Given the description of an element on the screen output the (x, y) to click on. 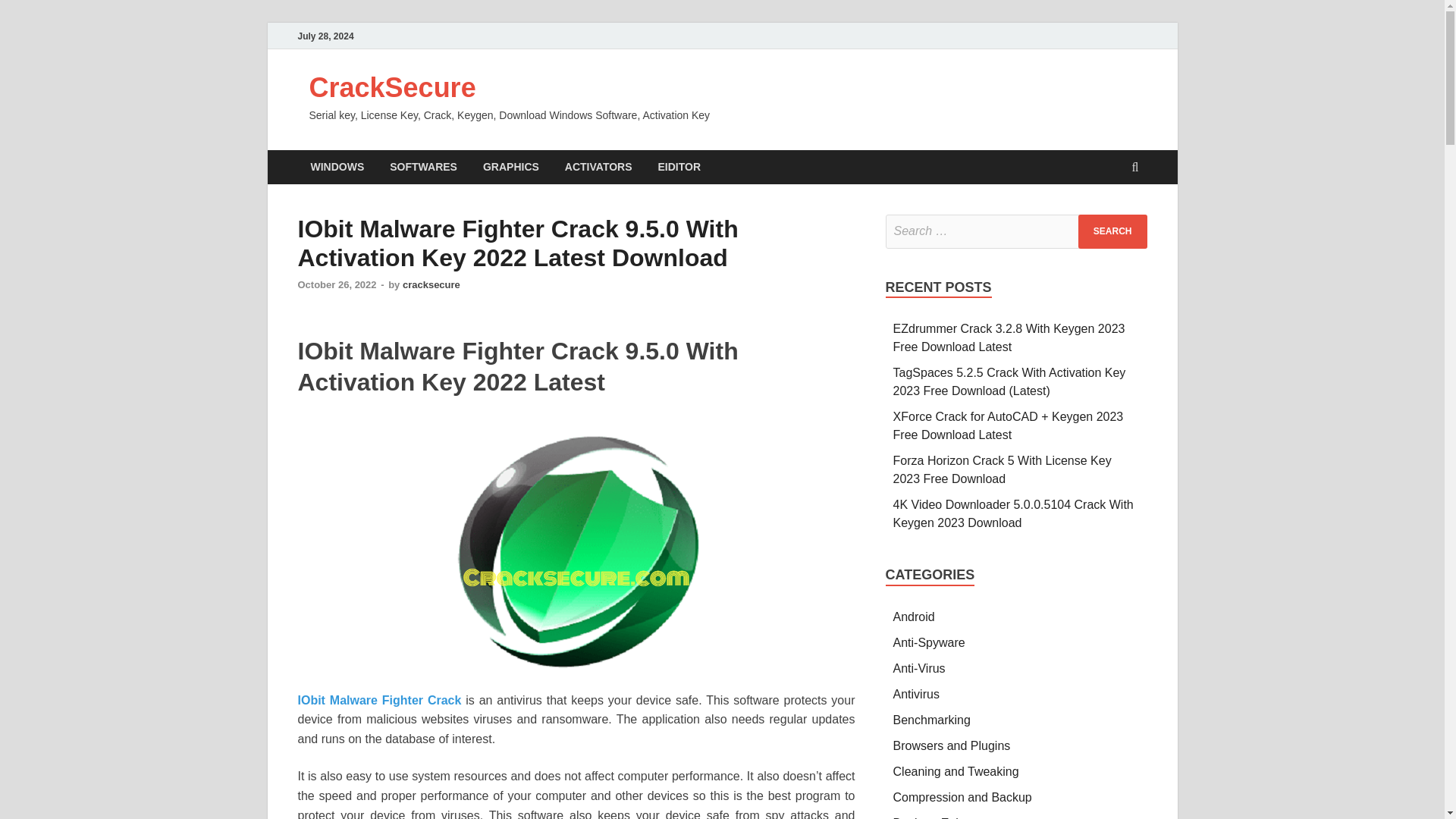
ACTIVATORS (598, 166)
EIDITOR (679, 166)
cracksecure (431, 284)
IObit Malware Fighter Crack (379, 699)
WINDOWS (337, 166)
SOFTWARES (423, 166)
Search (1112, 231)
Search (1112, 231)
October 26, 2022 (336, 284)
GRAPHICS (510, 166)
CrackSecure (392, 87)
